Given the description of an element on the screen output the (x, y) to click on. 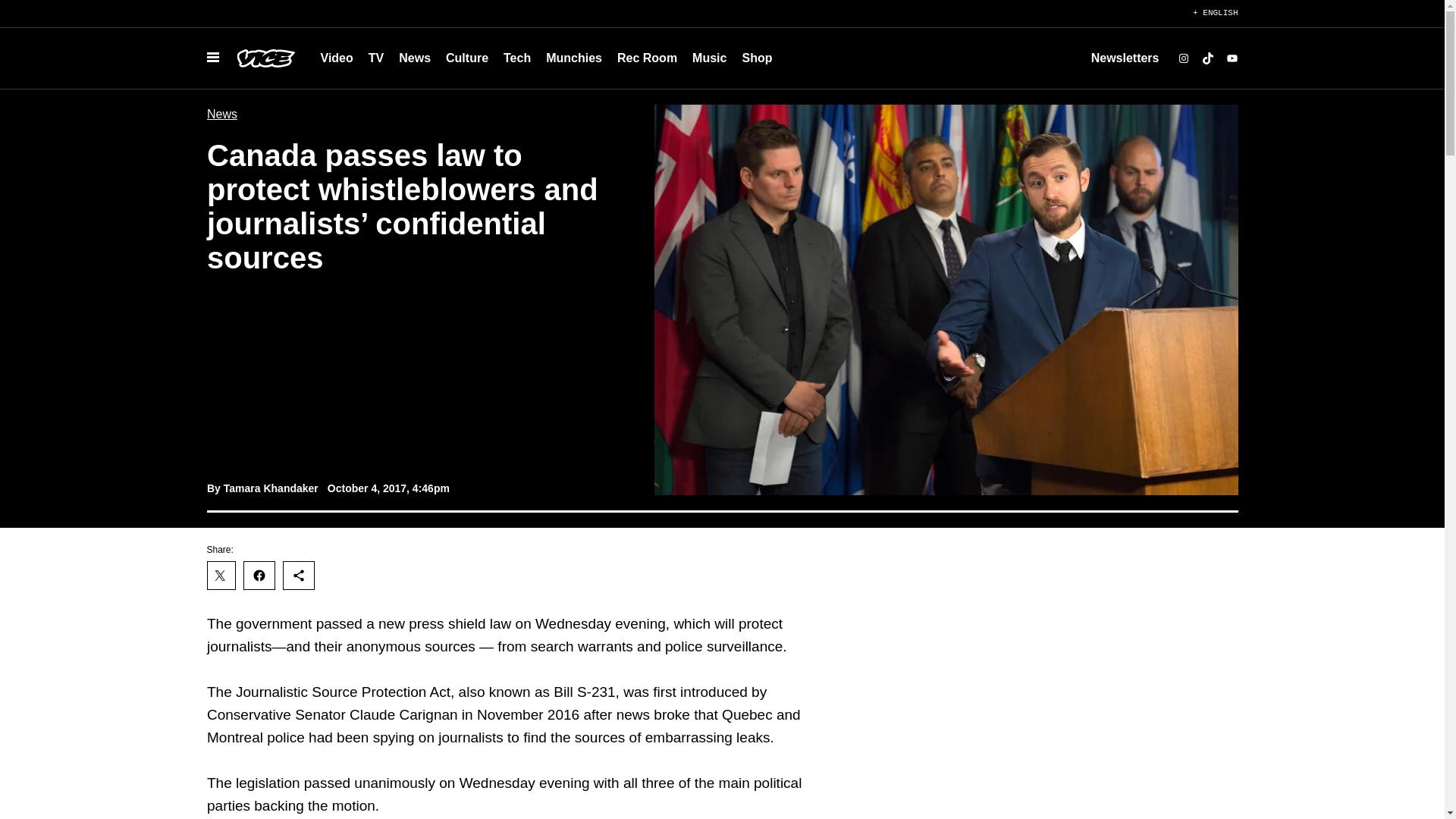
Shop (755, 58)
TV (376, 58)
Posts by Tamara Khandaker (269, 488)
Newsletters (1124, 57)
YouTube (1231, 58)
Open Menu (211, 58)
Rec Room (647, 58)
Video (336, 58)
Munchies (574, 58)
Music (708, 58)
